Given the description of an element on the screen output the (x, y) to click on. 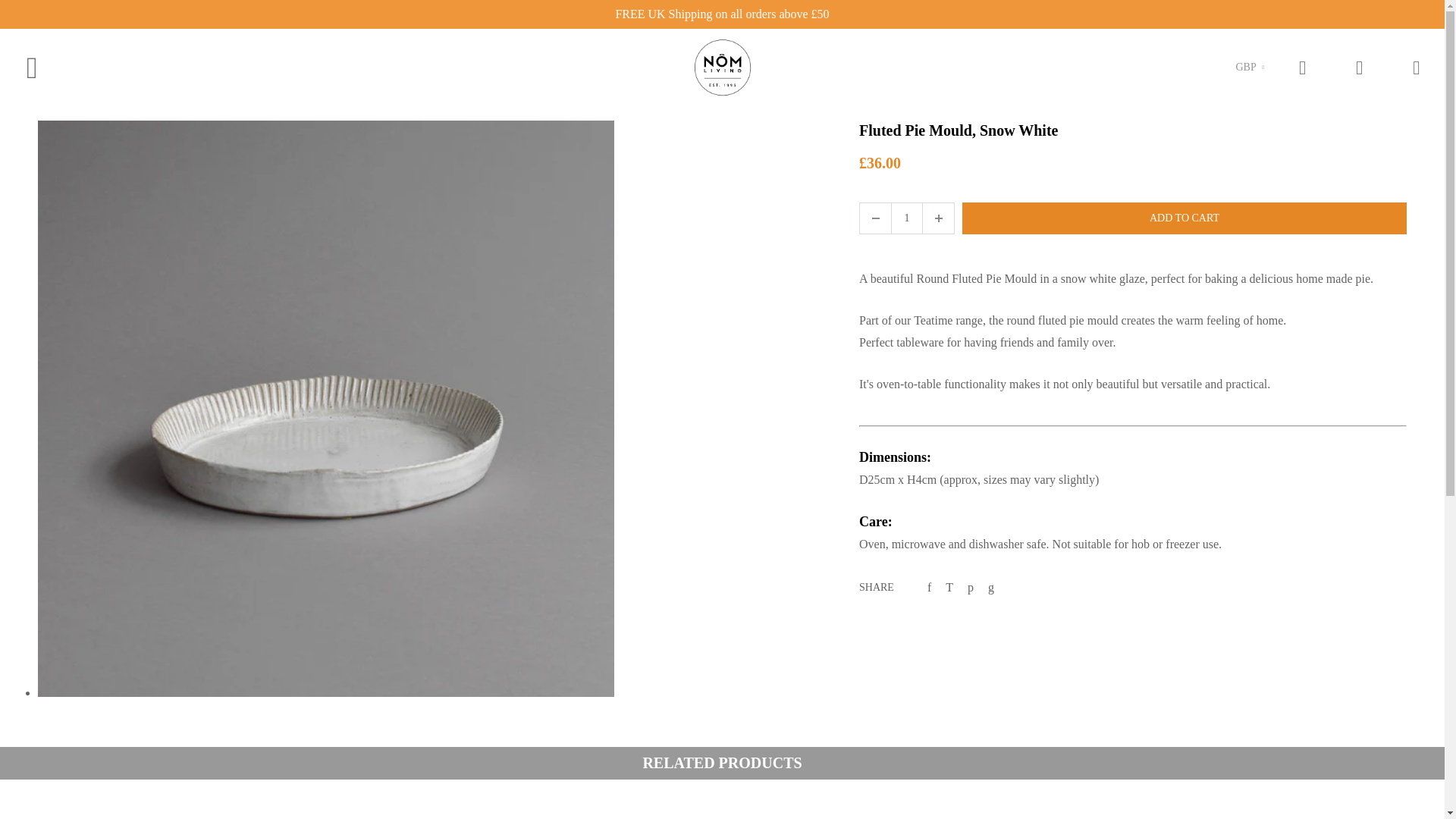
1 (907, 218)
